Given the description of an element on the screen output the (x, y) to click on. 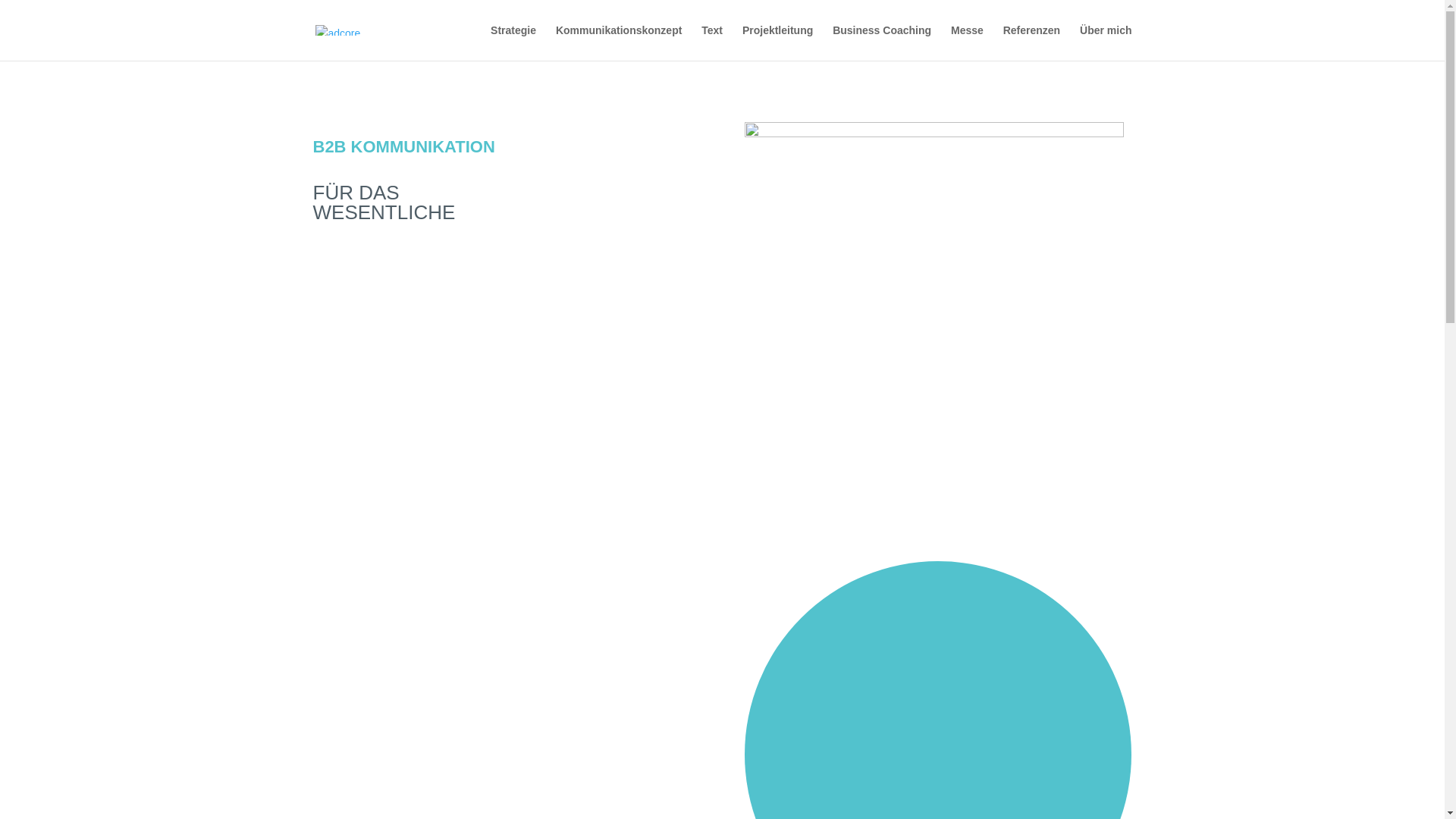
Business Coaching Element type: text (881, 42)
Text Element type: text (711, 42)
Projektleitung Element type: text (777, 42)
Strategie Element type: text (513, 42)
Kommunikationskonzept Element type: text (618, 42)
Messe Element type: text (966, 42)
Referenzen Element type: text (1031, 42)
